Given the description of an element on the screen output the (x, y) to click on. 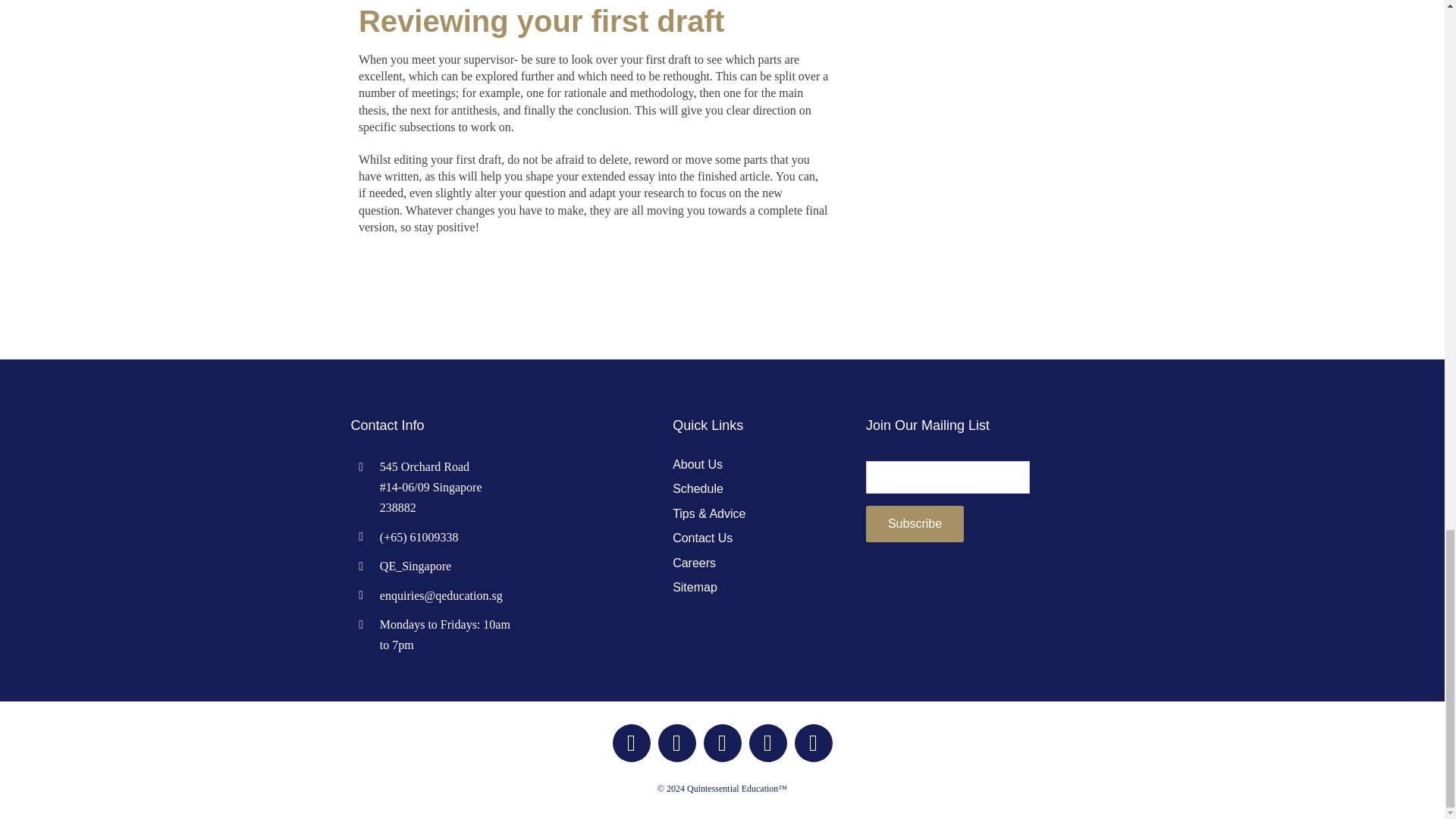
Facebook (631, 742)
Instagram (676, 742)
Subscribe (914, 524)
WeChat (722, 742)
